Given the description of an element on the screen output the (x, y) to click on. 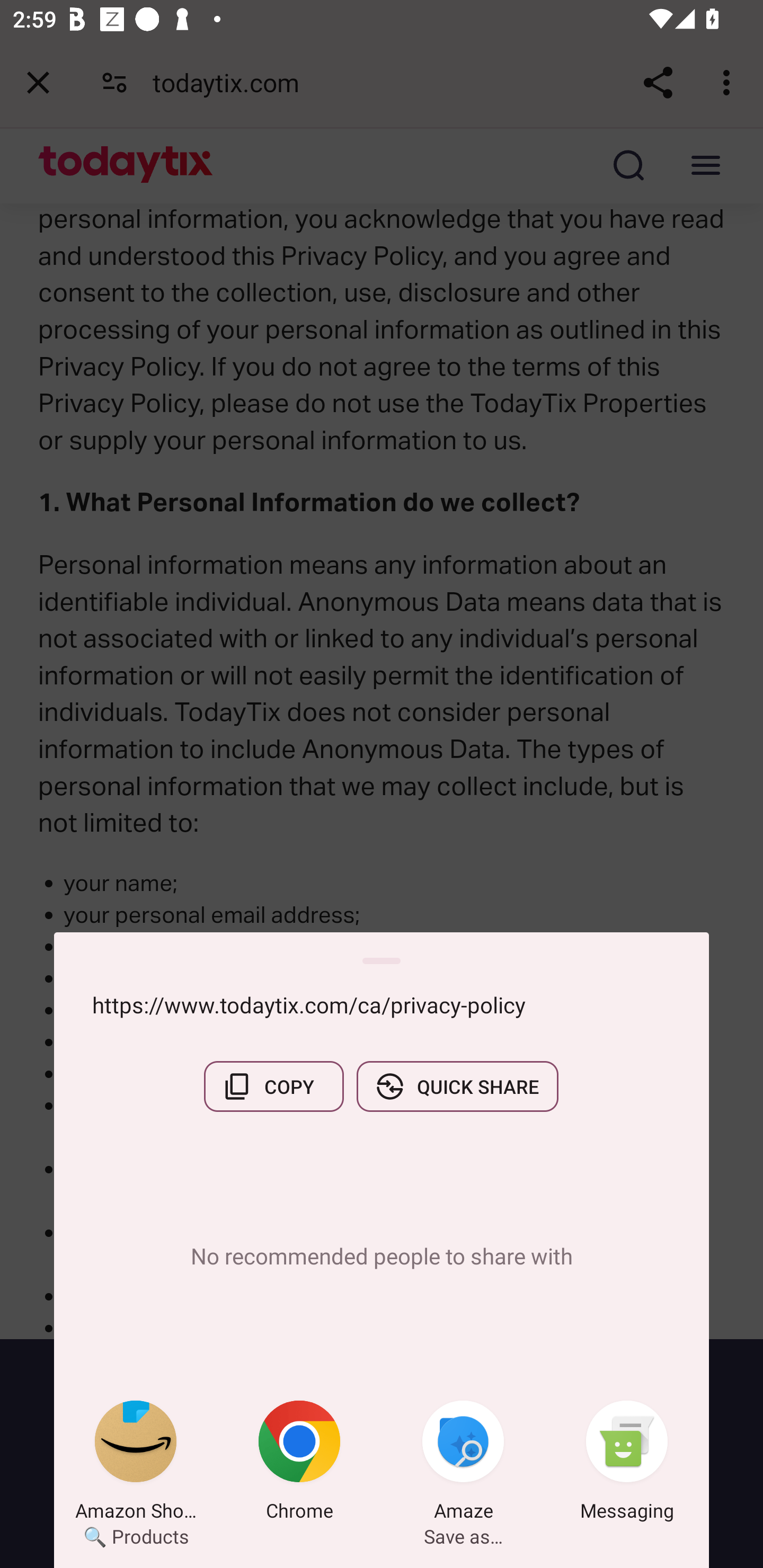
COPY (273, 1086)
QUICK SHARE (457, 1086)
Amazon Shopping 🔍 Products (135, 1463)
Chrome (299, 1463)
Amaze Save as… (463, 1463)
Messaging (626, 1463)
